Given the description of an element on the screen output the (x, y) to click on. 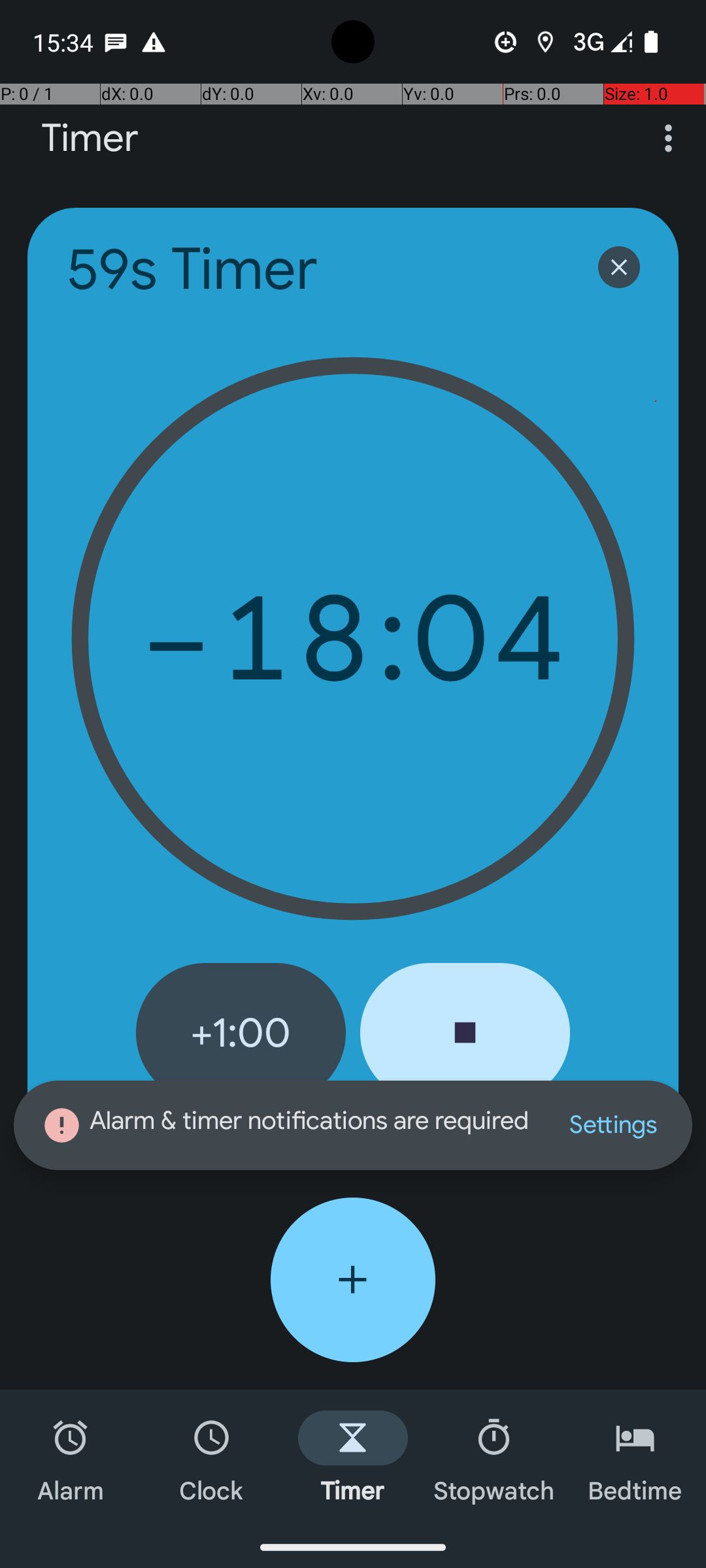
Timer Element type: android.widget.TextView (89, 138)
Add timer Element type: android.widget.Button (352, 1279)
59s Timer Element type: android.widget.TextView (315, 269)
Delete Element type: android.widget.Button (618, 267)
−18:05 Element type: android.widget.TextView (352, 638)
+1:00 Element type: android.widget.Button (240, 1032)
Stop Element type: android.widget.Button (465, 1032)
Alarm Element type: android.widget.FrameLayout (70, 1457)
Clock Element type: android.widget.FrameLayout (211, 1457)
Stopwatch Element type: android.widget.FrameLayout (493, 1457)
Bedtime Element type: android.widget.FrameLayout (635, 1457)
Alarm & timer notifications are required Element type: android.widget.TextView (287, 1125)
Settings Element type: android.widget.Button (612, 1124)
Data Saver is on Element type: android.widget.ImageView (505, 41)
